Given the description of an element on the screen output the (x, y) to click on. 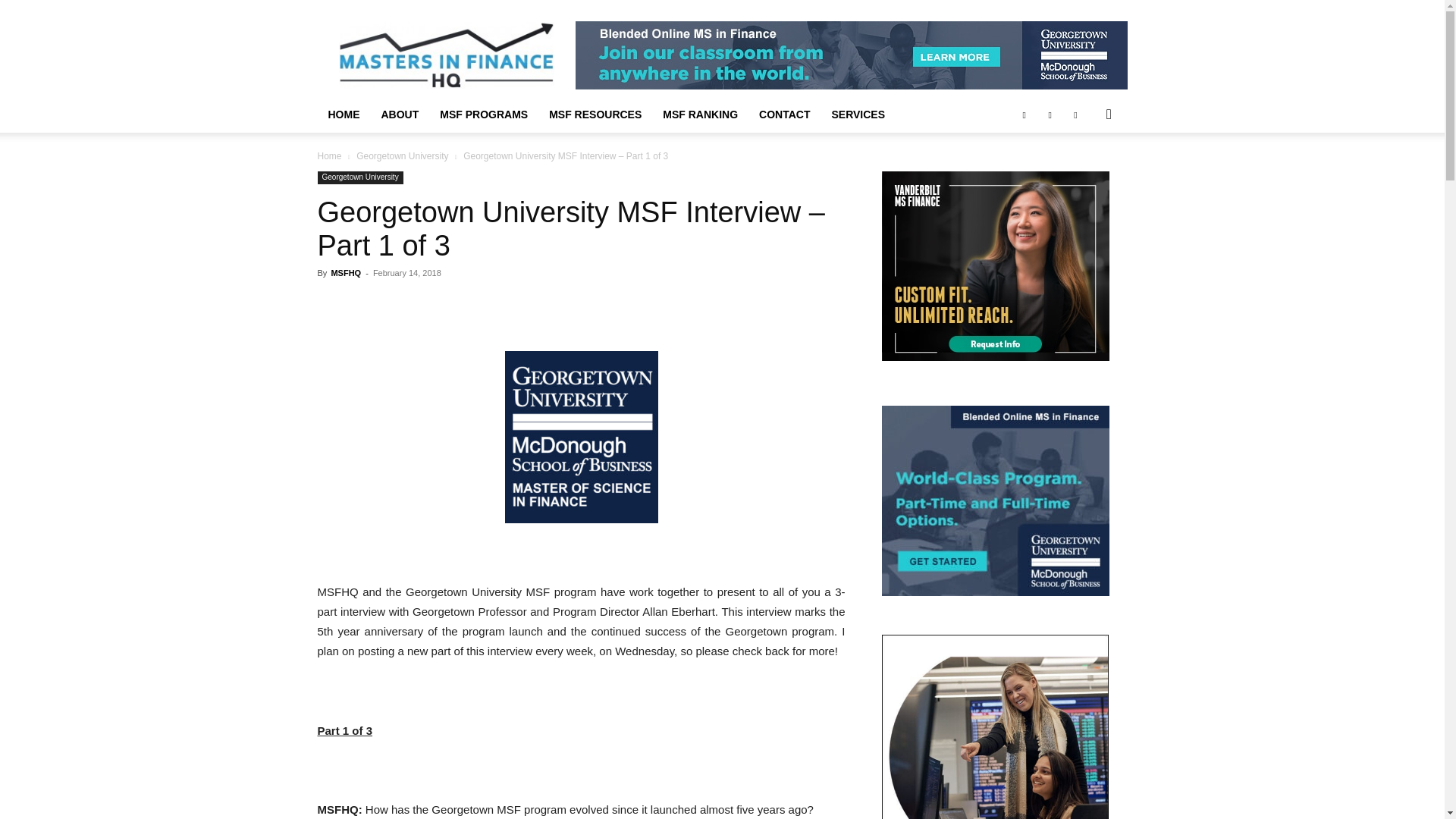
Georgetown University (402, 155)
SERVICES (858, 114)
MSF RANKING (700, 114)
MSFHQ (345, 272)
HOME (343, 114)
MSF PROGRAMS (483, 114)
Georgetown University (360, 177)
CONTACT (784, 114)
Search (1085, 174)
View all posts in Georgetown University (402, 155)
